Given the description of an element on the screen output the (x, y) to click on. 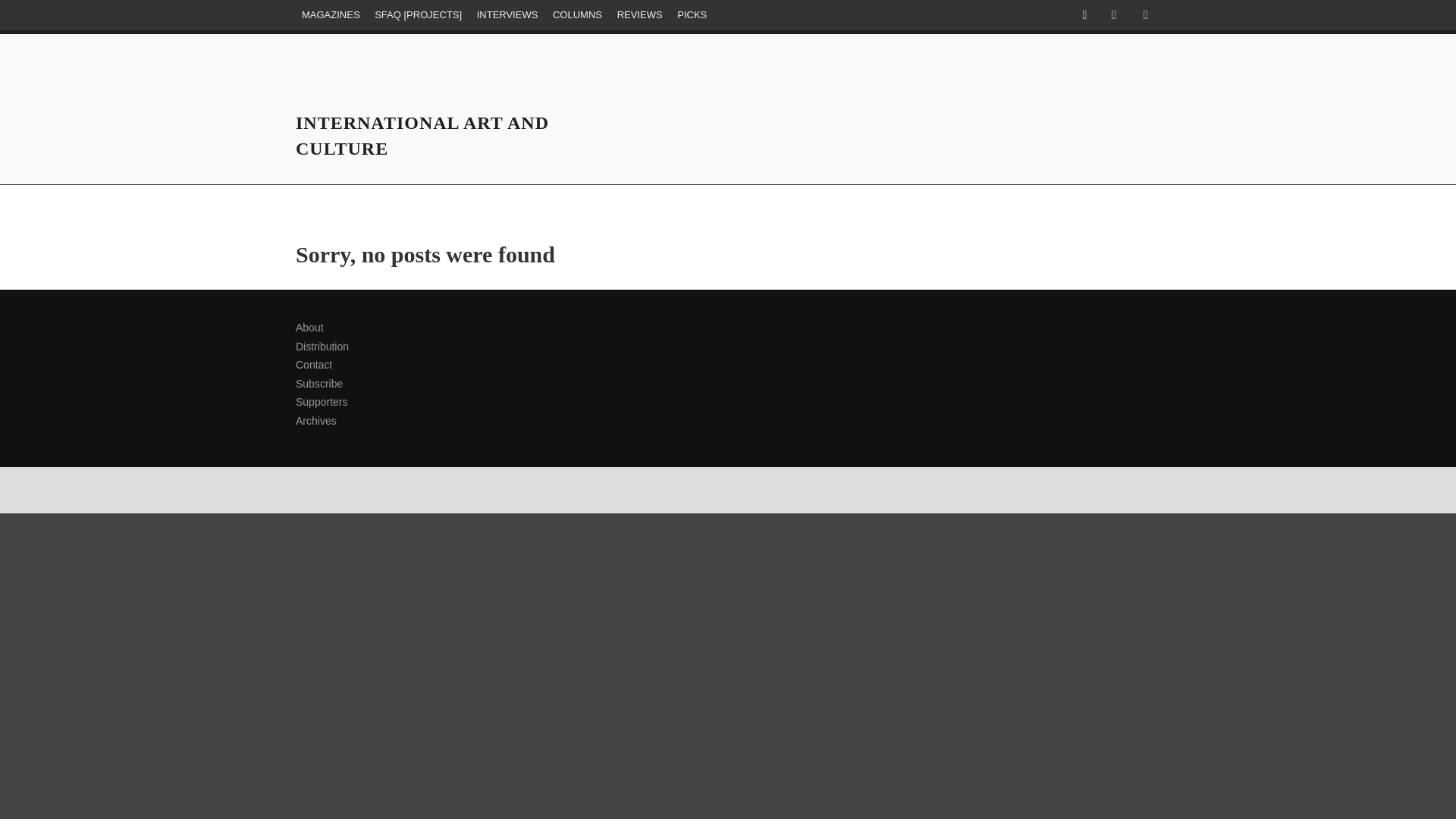
Facebook (1084, 15)
COLUMNS (577, 15)
INTERVIEWS (507, 15)
REVIEWS (639, 15)
MAGAZINES (330, 15)
Twitter (1113, 15)
